Given the description of an element on the screen output the (x, y) to click on. 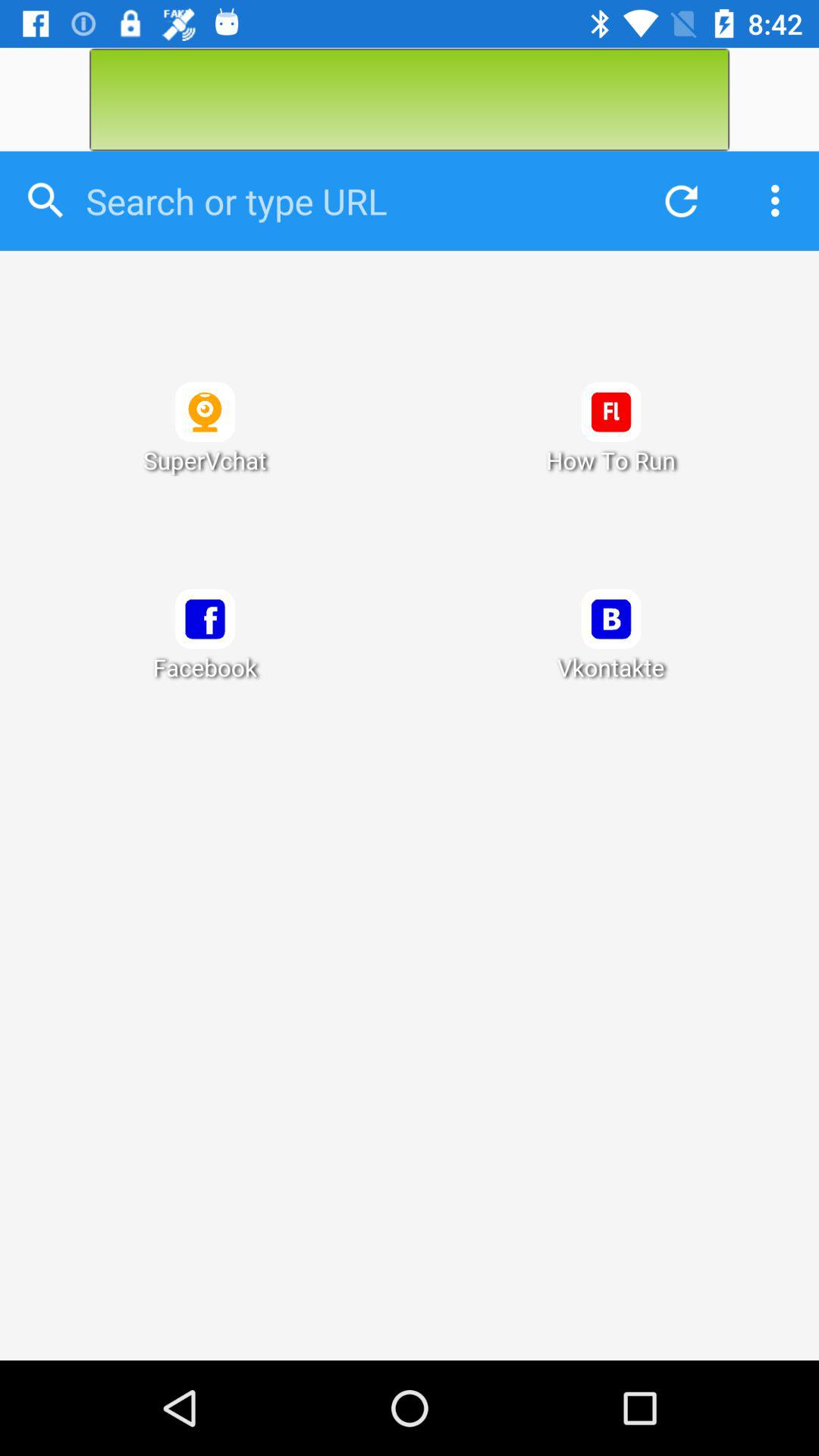
reload the page (677, 200)
